Given the description of an element on the screen output the (x, y) to click on. 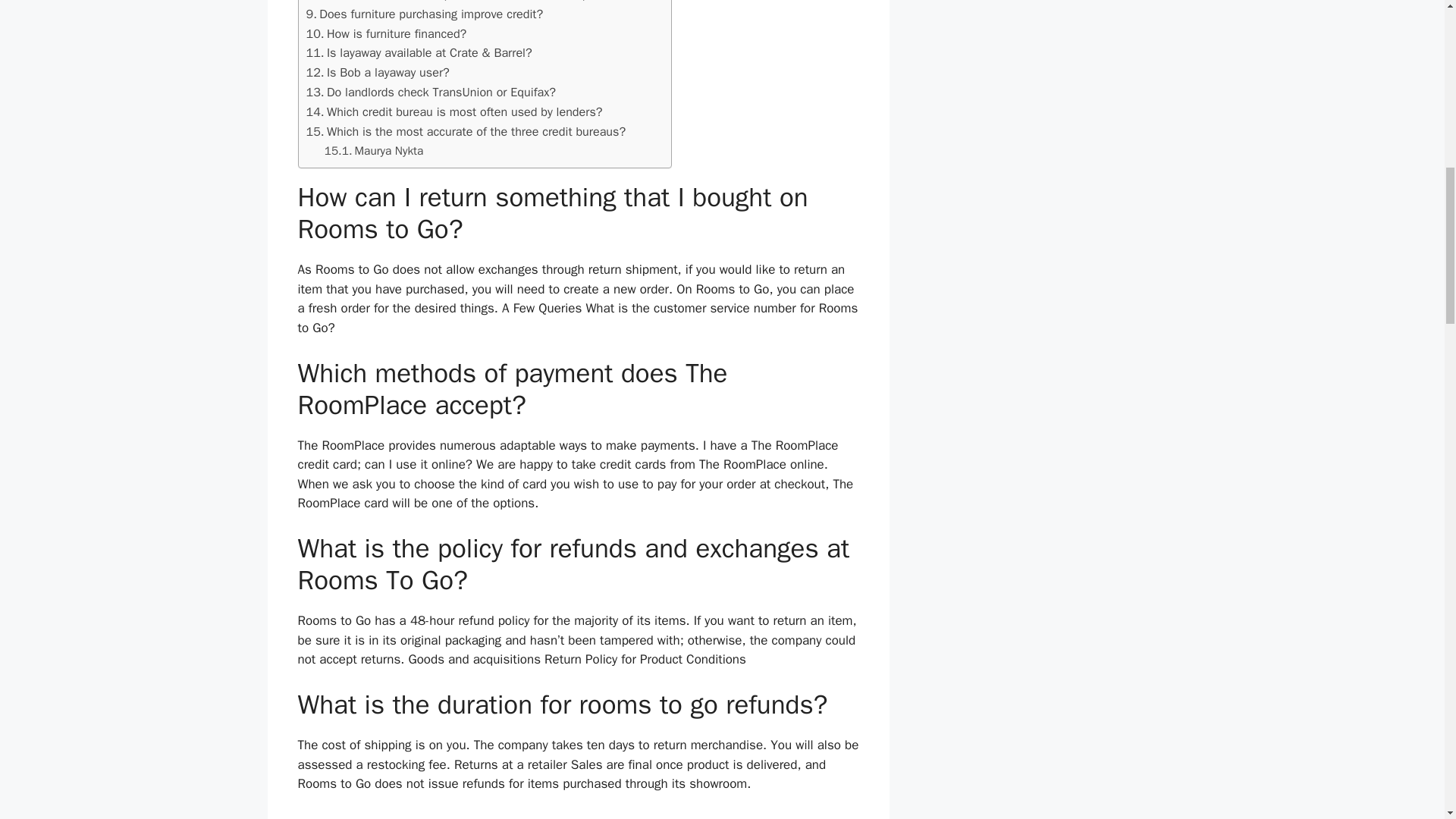
Does furniture purchasing improve credit? (424, 14)
Which is the most accurate of the three credit bureaus? (465, 131)
Does furniture purchasing improve credit? (424, 14)
Maurya Nykta (373, 150)
How is furniture financed? (386, 34)
Is Bob a layaway user? (377, 72)
Which credit bureau is most often used by lenders? (453, 112)
Do landlords check TransUnion or Equifax? (430, 92)
How is furniture financed? (386, 34)
